Given the description of an element on the screen output the (x, y) to click on. 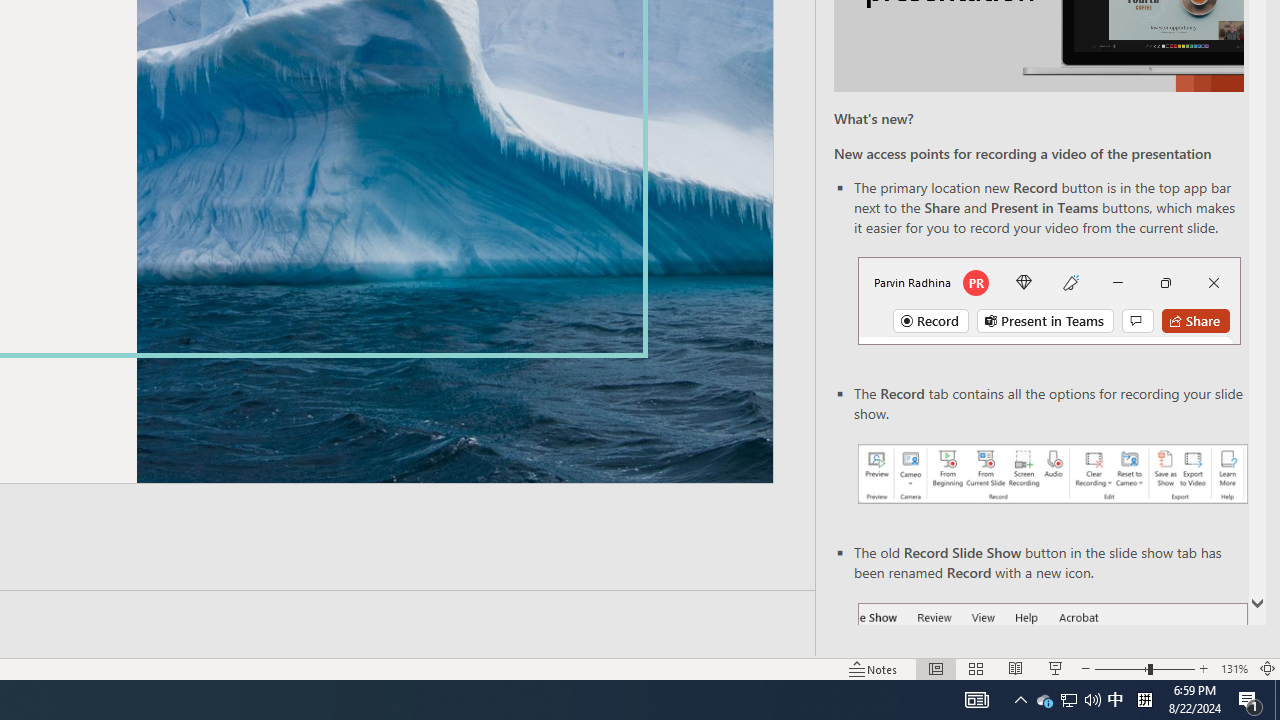
Zoom 131% (1234, 668)
Record button in top bar (1049, 300)
Record your presentations screenshot one (1052, 473)
